Given the description of an element on the screen output the (x, y) to click on. 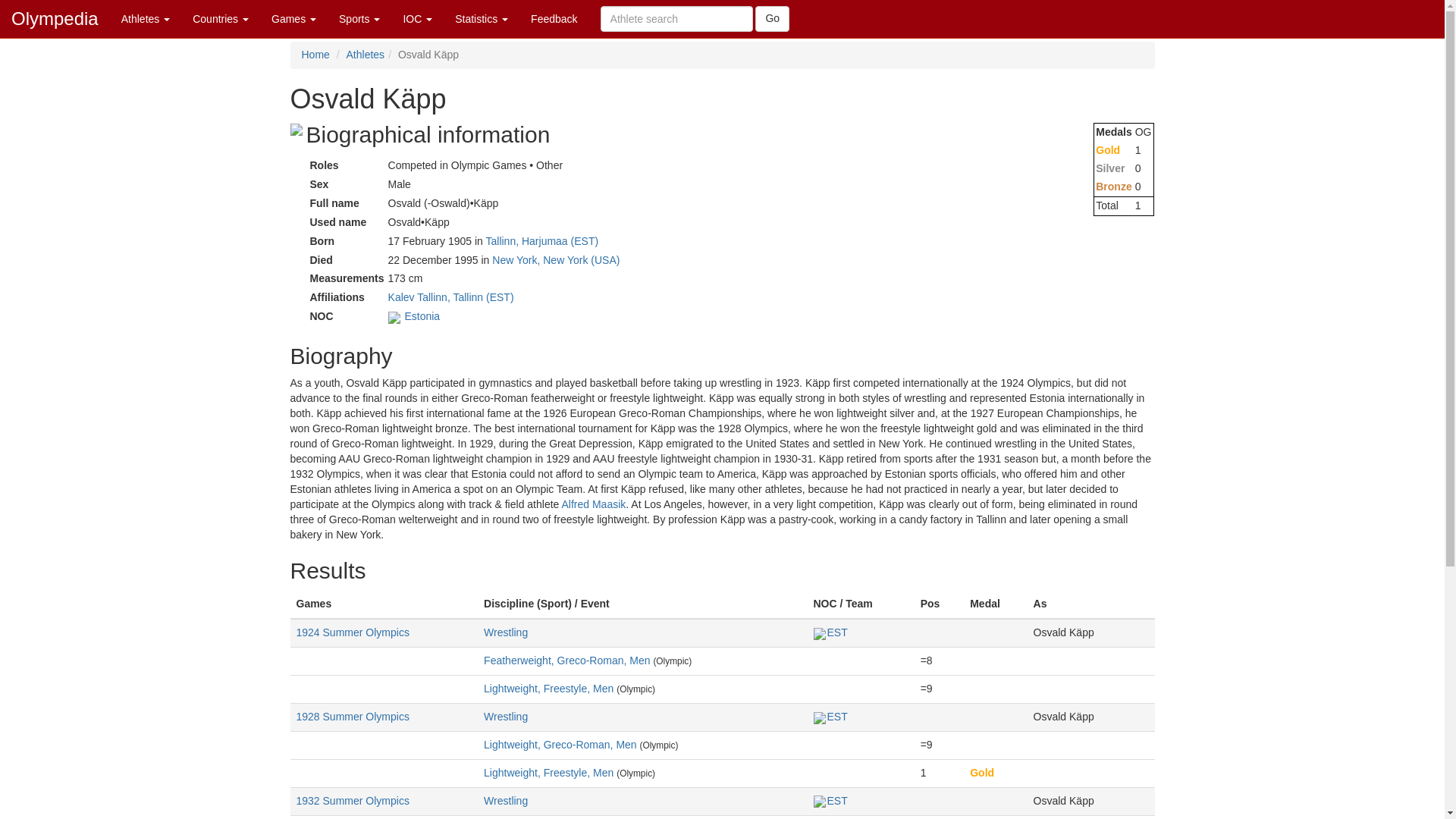
Go (772, 18)
Statistics (481, 18)
Games (293, 18)
Feedback (553, 18)
Go (772, 18)
Sports (359, 18)
Countries (220, 18)
Olympedia (55, 18)
IOC (417, 18)
Athletes (145, 18)
